Given the description of an element on the screen output the (x, y) to click on. 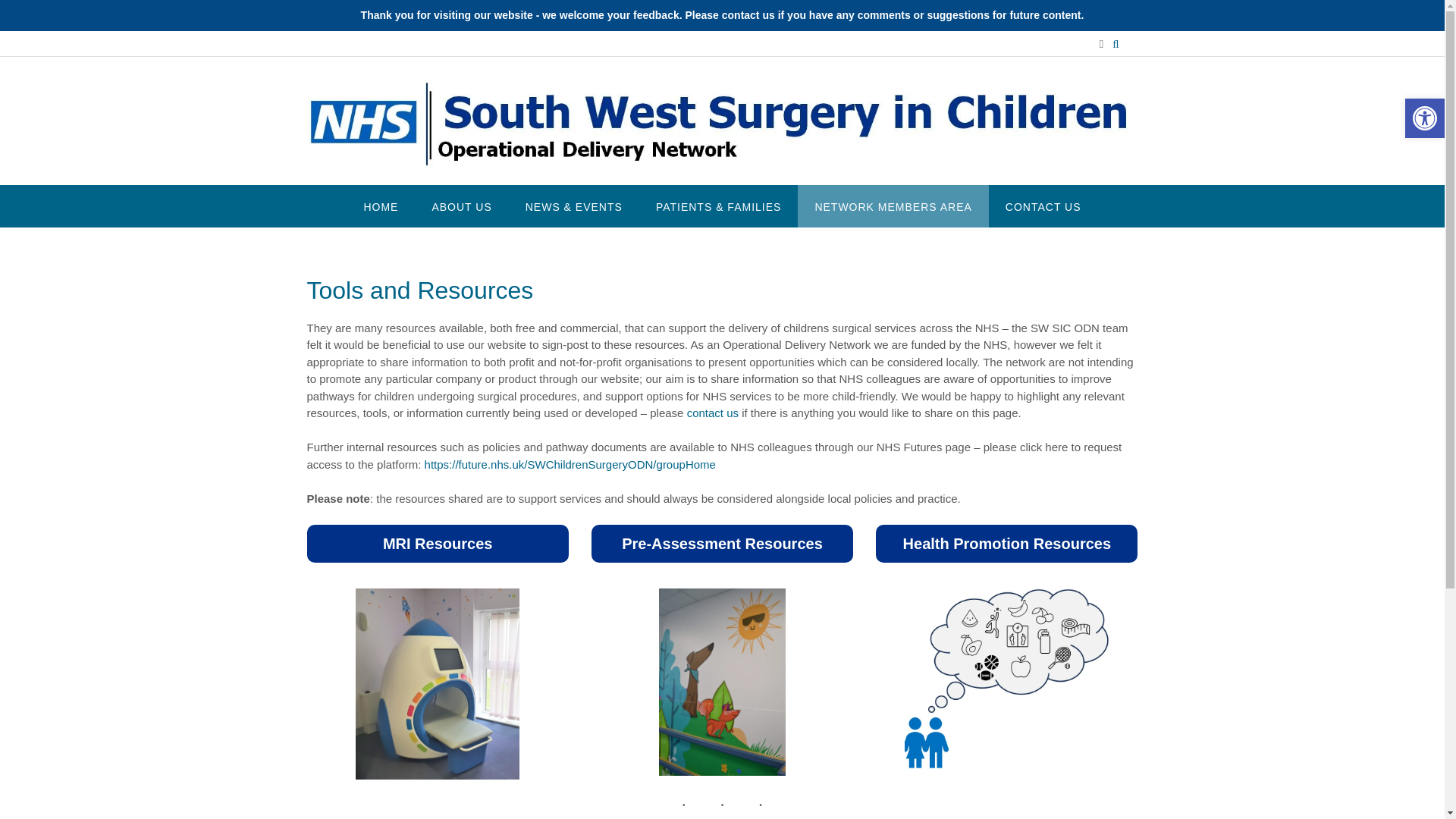
Send us an email (1101, 43)
ABOUT US (461, 206)
Accessibility Tools (1424, 118)
NETWORK MEMBERS AREA (892, 206)
HOME (380, 206)
